Given the description of an element on the screen output the (x, y) to click on. 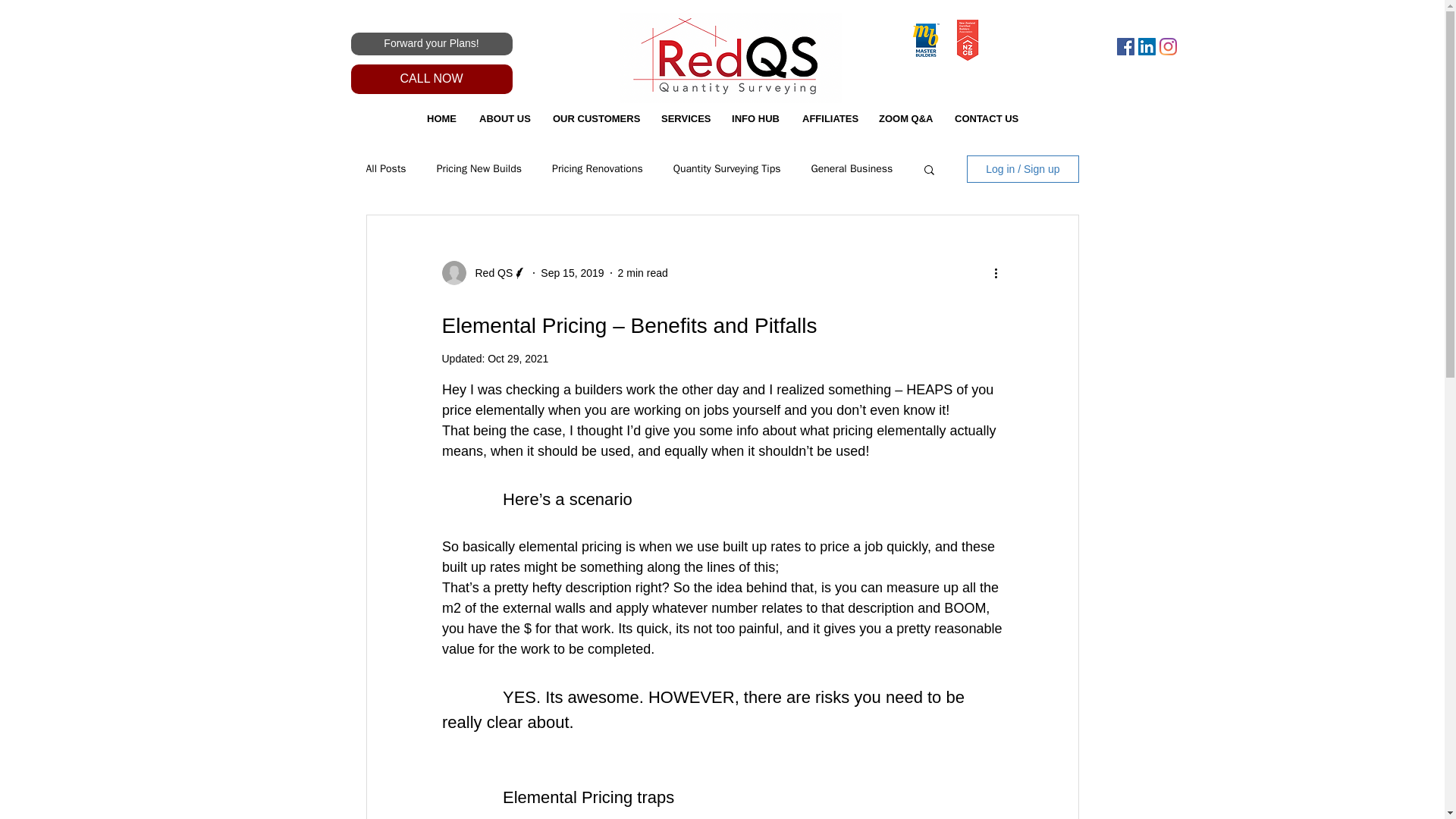
CONTACT US (986, 118)
Sep 15, 2019 (572, 272)
Pricing New Builds (478, 169)
Quantity Surveying Tips (726, 169)
Pricing Renovations (597, 169)
SERVICES (684, 118)
Red QS (488, 273)
AFFILIATES (828, 118)
General Business (851, 169)
HOME (440, 118)
